Given the description of an element on the screen output the (x, y) to click on. 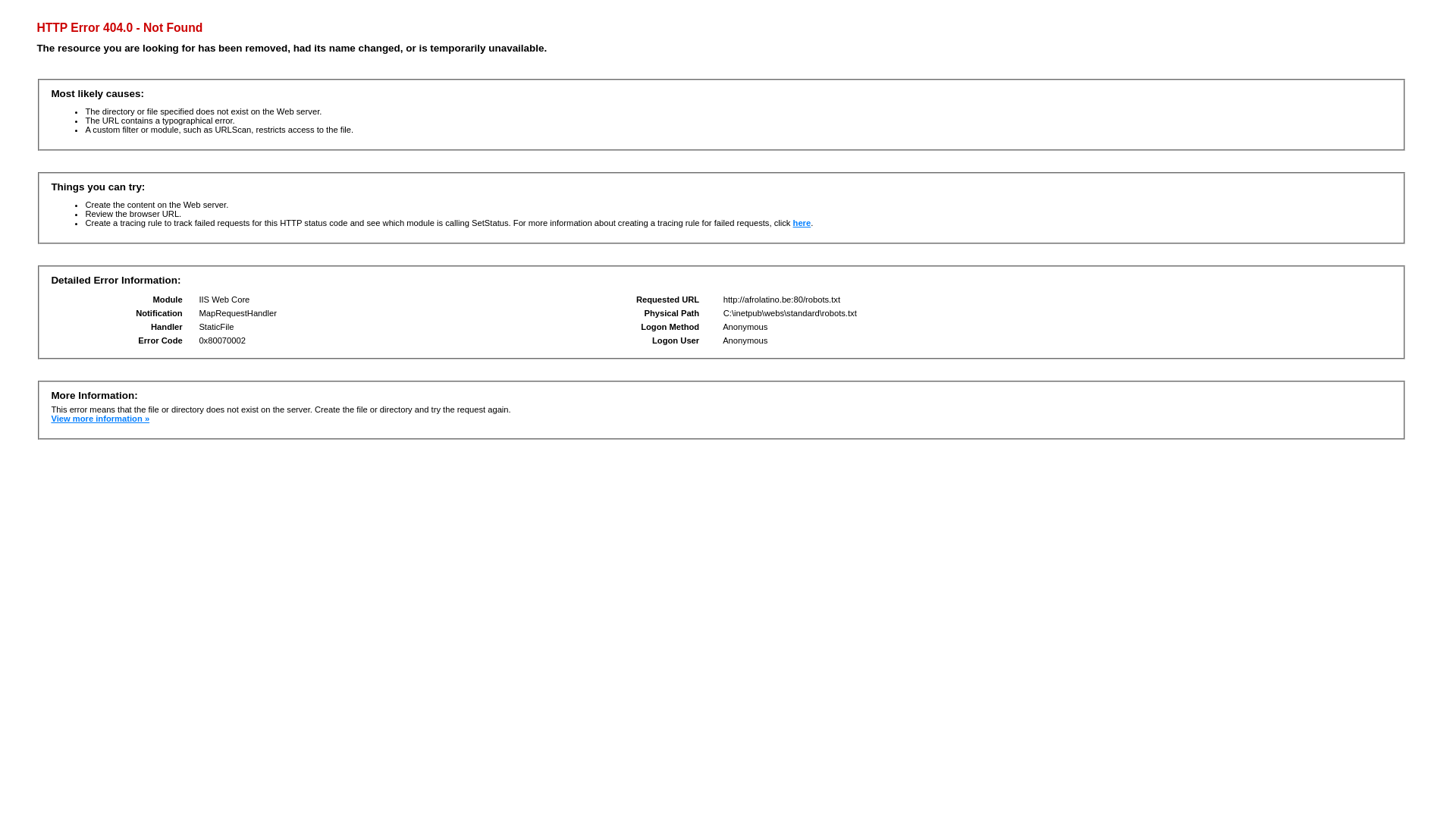
here Element type: text (802, 222)
